Given the description of an element on the screen output the (x, y) to click on. 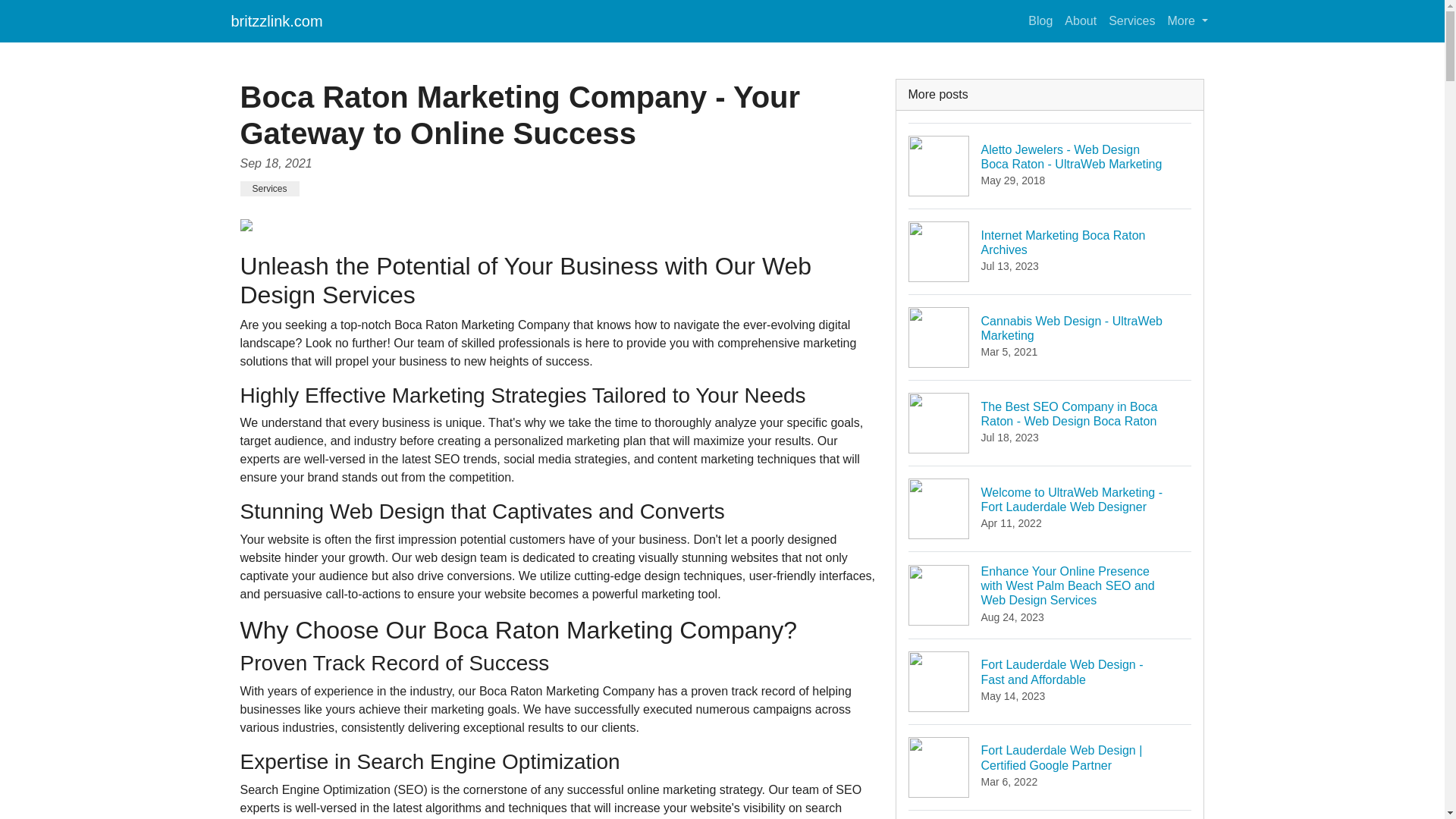
About (1050, 251)
Blog (1080, 20)
britzzlink.com (1050, 337)
More (1040, 20)
Services (275, 20)
Services (1187, 20)
